Given the description of an element on the screen output the (x, y) to click on. 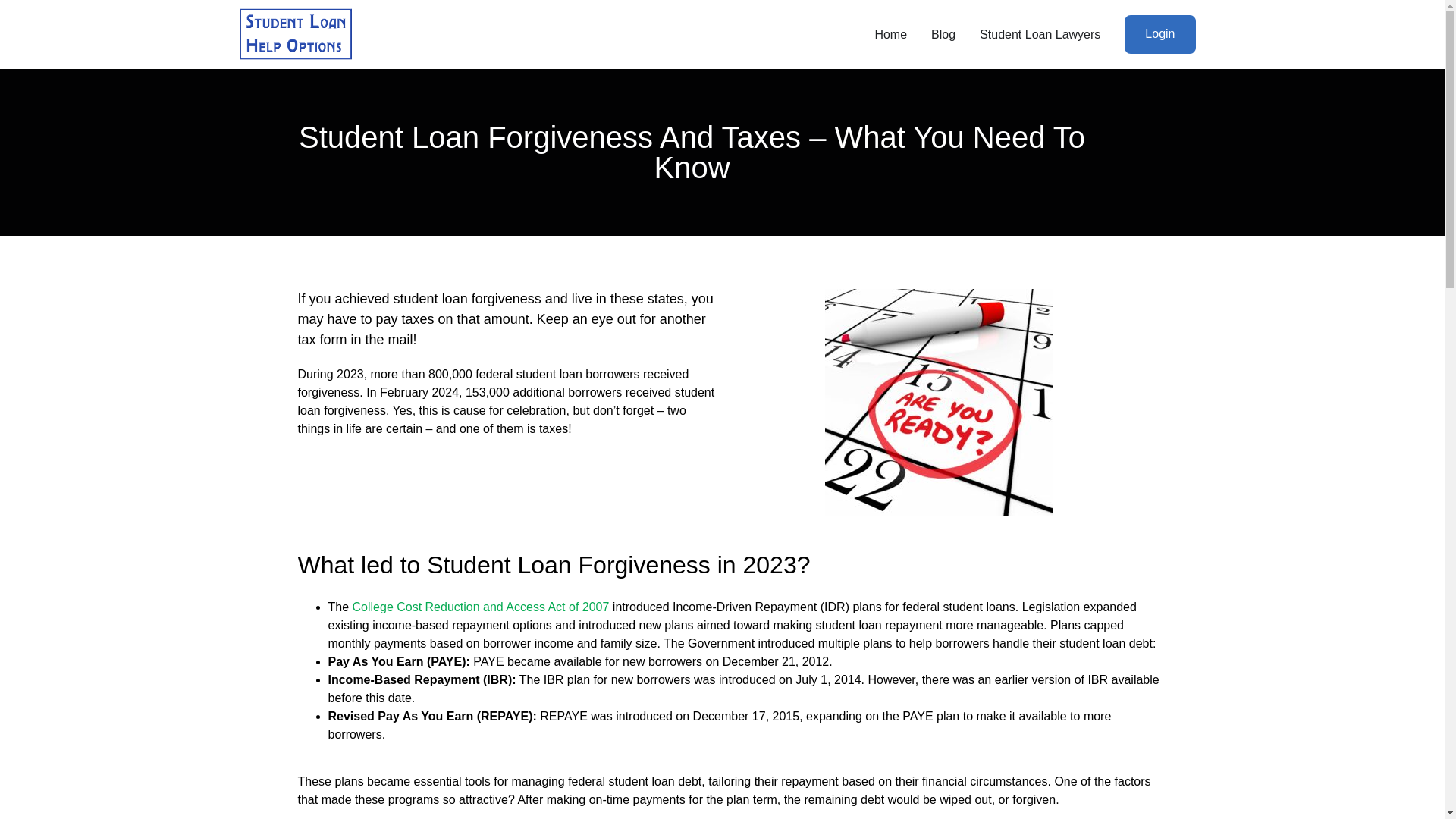
College Cost Reduction and Access Act of 2007 (481, 606)
Blog (943, 34)
Home (891, 34)
Login (1159, 34)
Student Loan Lawyers (1039, 34)
